Given the description of an element on the screen output the (x, y) to click on. 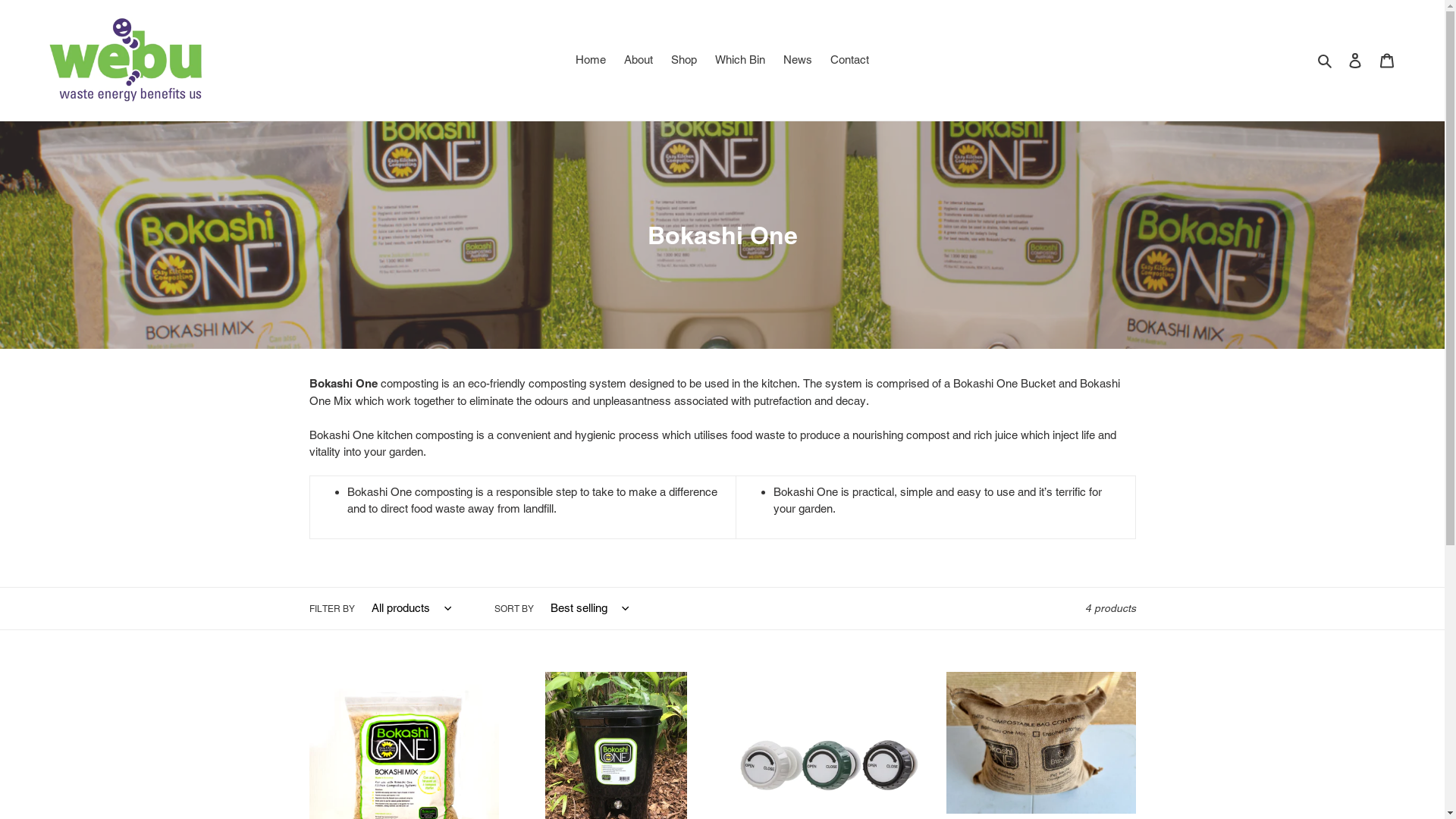
Cart Element type: text (1386, 59)
Which Bin Element type: text (739, 60)
Log in Element type: text (1355, 59)
About Element type: text (638, 60)
News Element type: text (797, 60)
Contact Element type: text (849, 60)
Home Element type: text (590, 60)
Shop Element type: text (683, 60)
Search Element type: text (1325, 59)
